Given the description of an element on the screen output the (x, y) to click on. 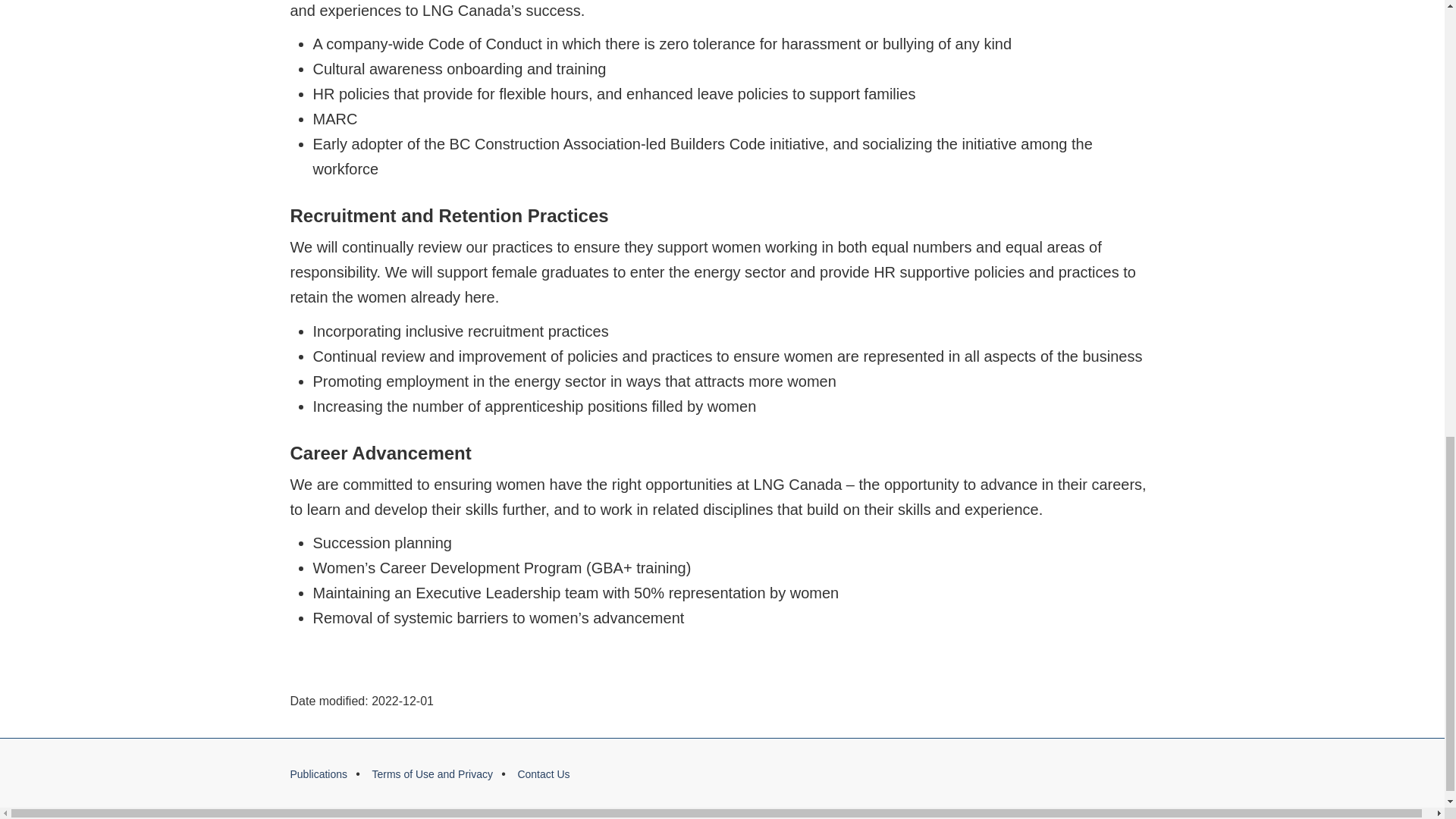
Site Map section. (318, 774)
Contact Us (542, 774)
Contact Us section. (542, 774)
Terms of Use and Privacy (432, 774)
Publications (318, 774)
Terms of Use and Privacy (432, 774)
